Given the description of an element on the screen output the (x, y) to click on. 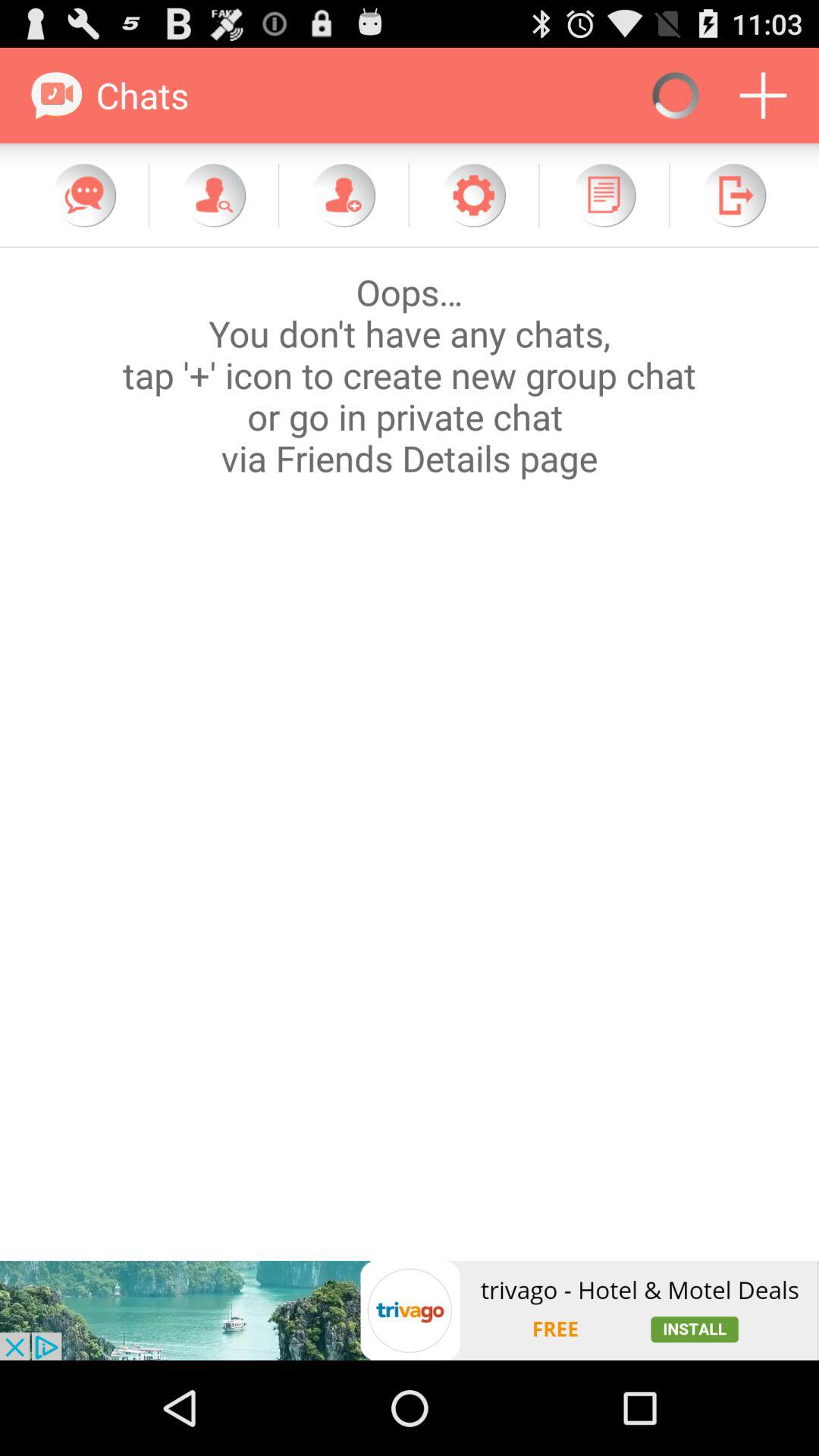
go to next (734, 194)
